Given the description of an element on the screen output the (x, y) to click on. 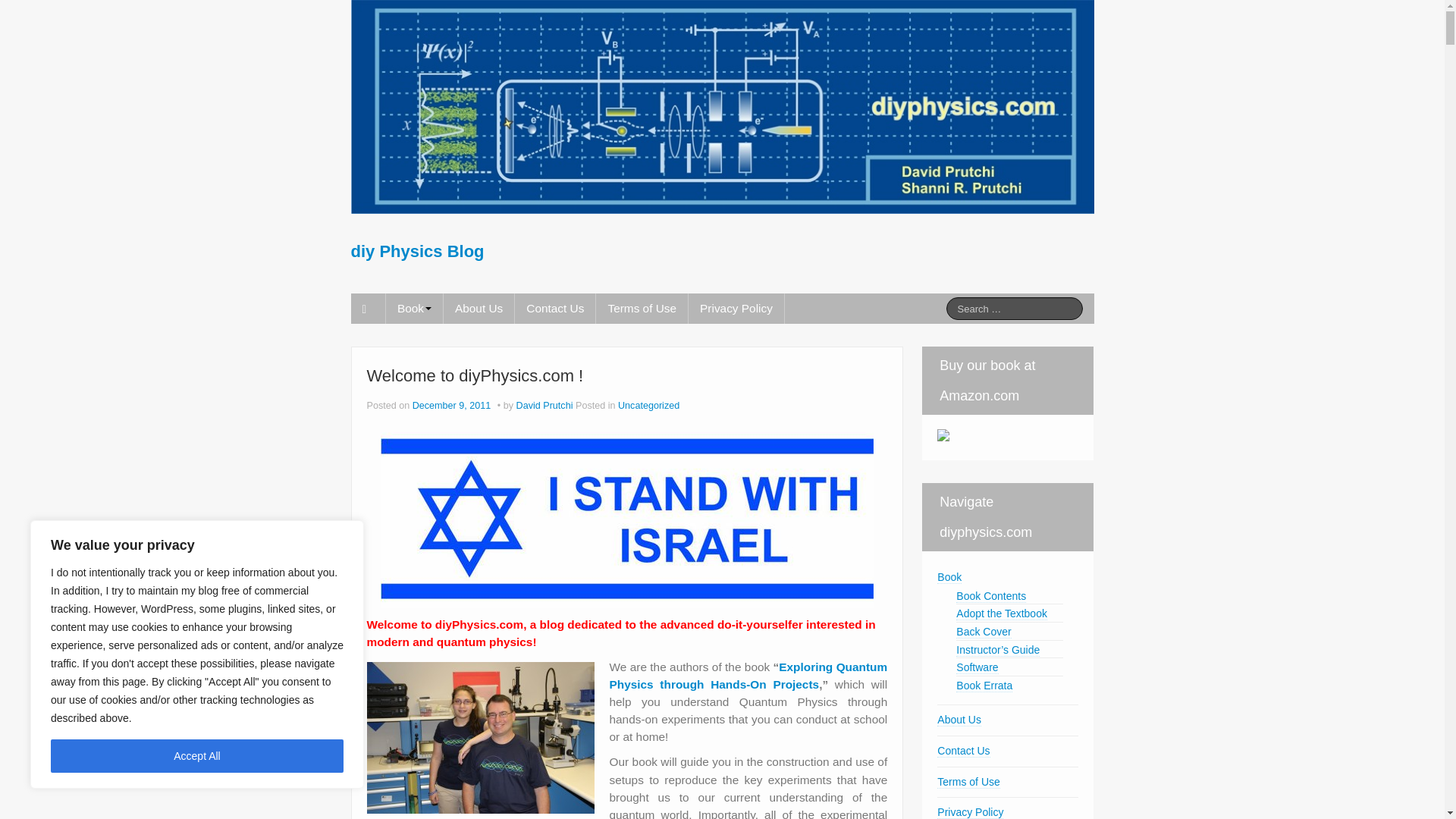
Accept All (196, 756)
Book (413, 308)
Privacy Policy (736, 308)
Uncategorized (648, 405)
10:28 am (452, 405)
diy Physics Blog (416, 251)
Exploring Quantum Physics through Hands-On Projects (749, 675)
Welcome to diyPhysics.com ! (474, 375)
Terms of Use (641, 308)
ShanniDavidLab (480, 737)
